Given the description of an element on the screen output the (x, y) to click on. 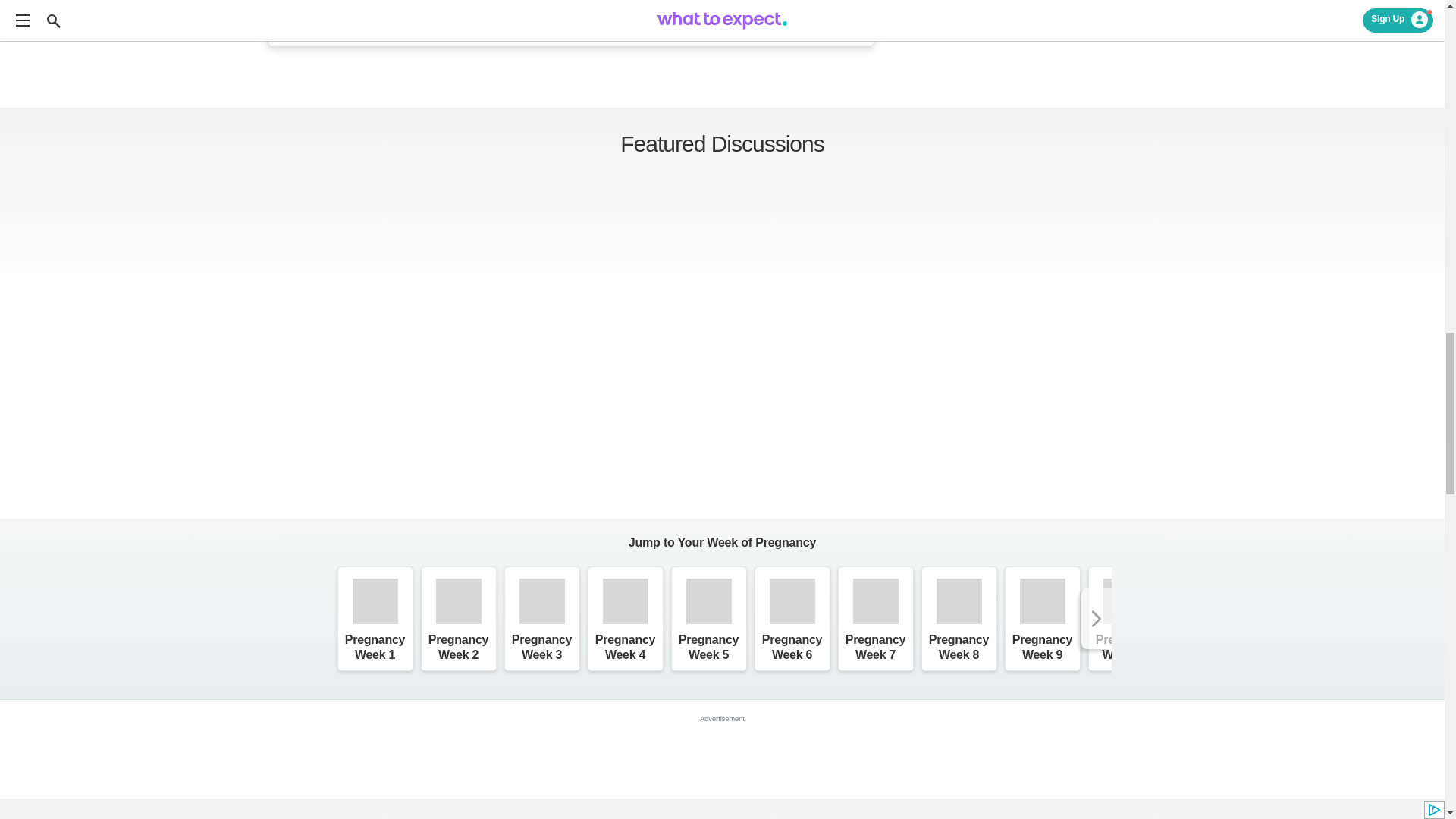
Best Pregnancy Tests (1024, 2)
